Given the description of an element on the screen output the (x, y) to click on. 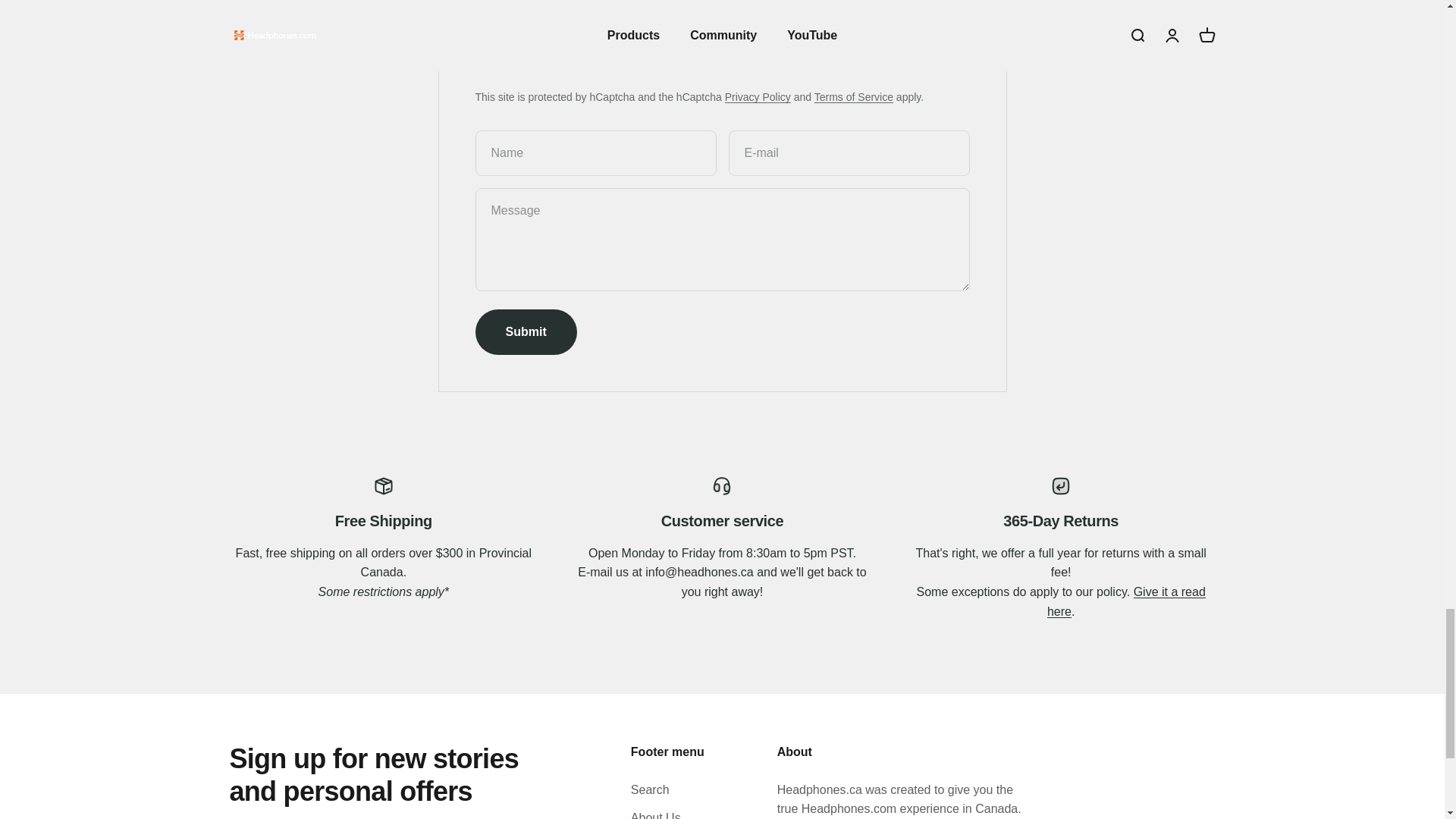
Refund Policy (1125, 601)
